Given the description of an element on the screen output the (x, y) to click on. 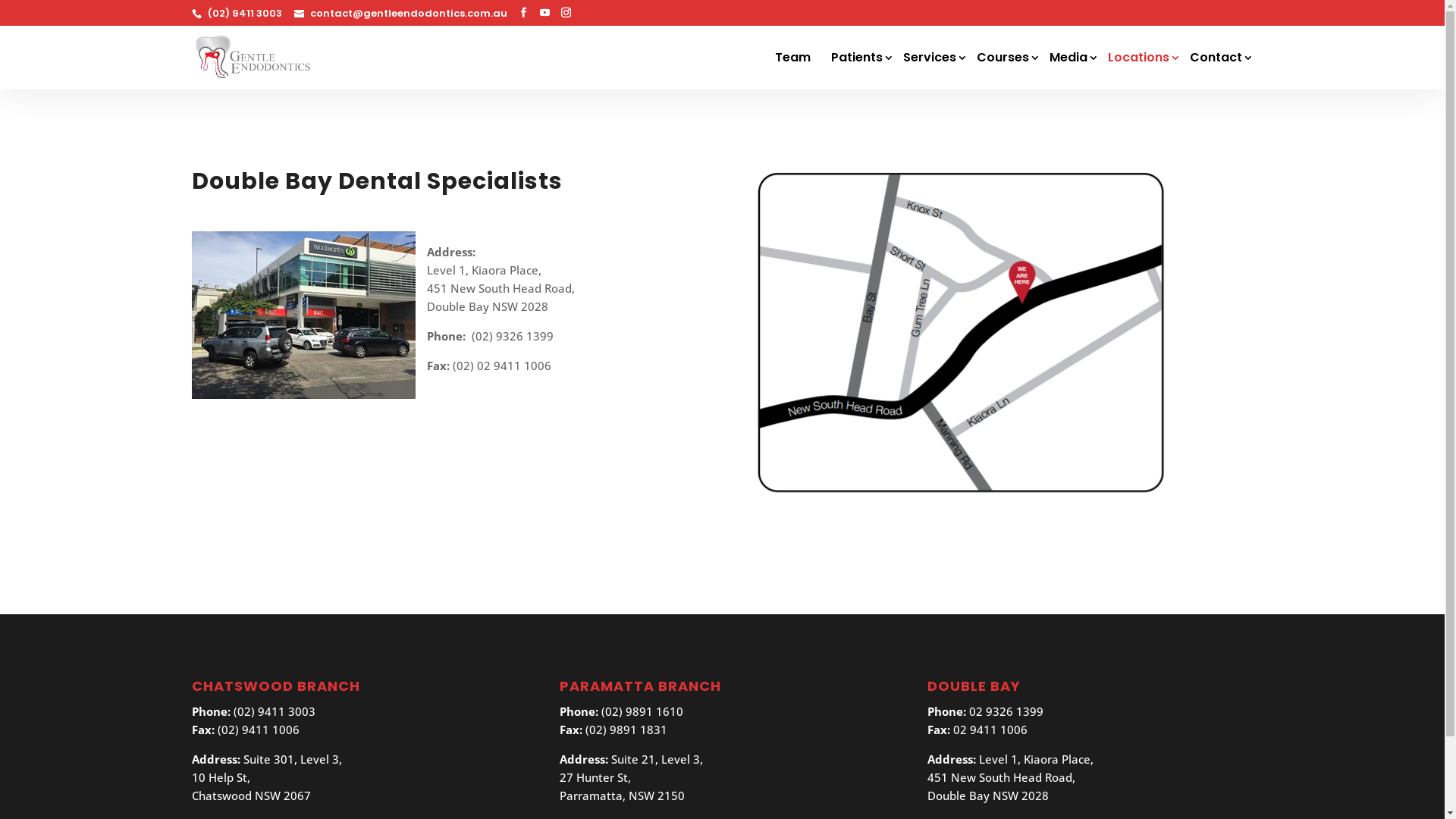
contact@gentleendodontics.com.au Element type: text (400, 13)
Team Element type: text (798, 69)
Locations Element type: text (1143, 69)
Courses Element type: text (1008, 69)
Media Element type: text (1073, 69)
Contact Element type: text (1220, 69)
Services Element type: text (934, 69)
Patients Element type: text (862, 69)
